Given the description of an element on the screen output the (x, y) to click on. 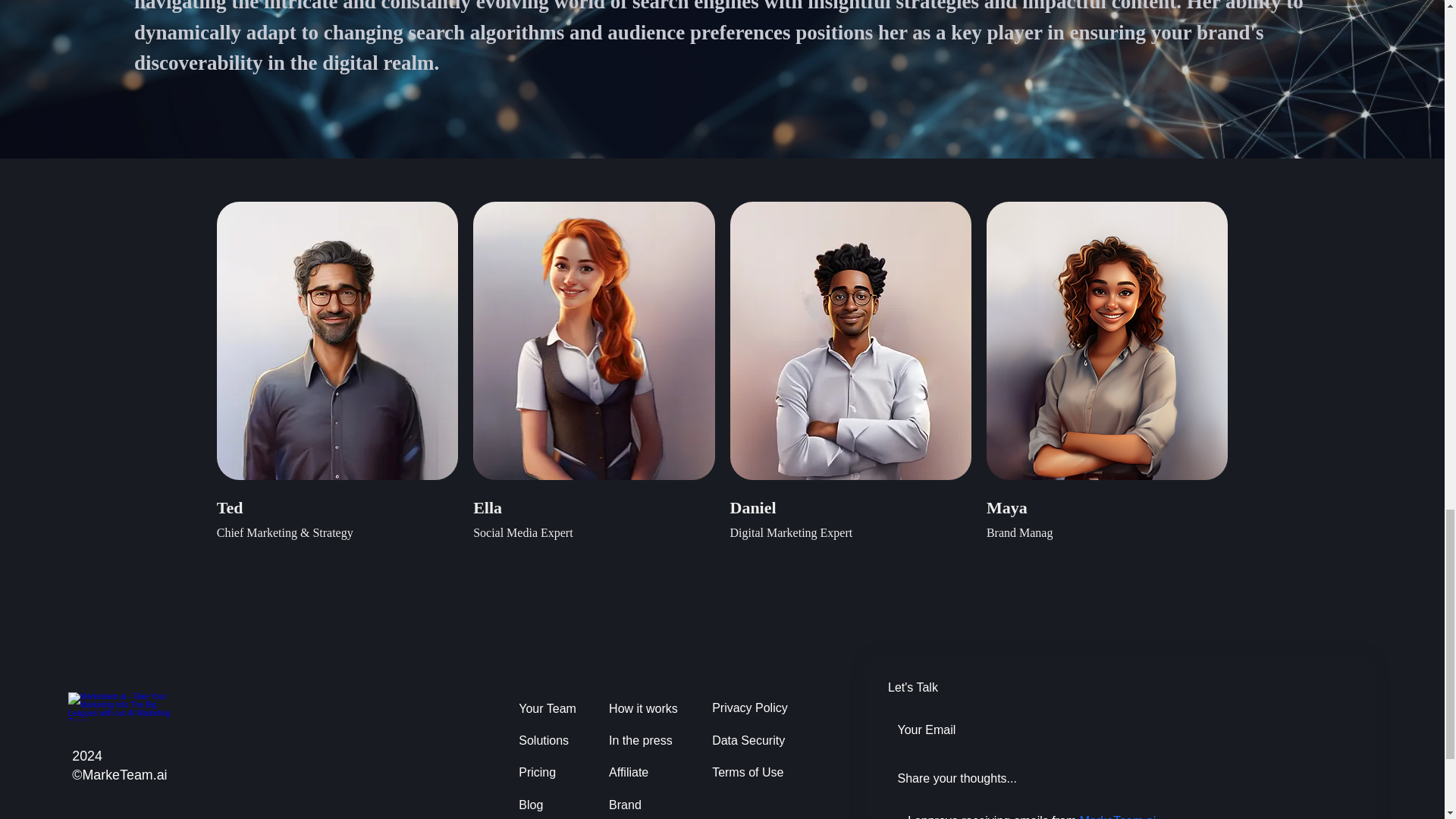
Solutions (548, 740)
How it works (644, 708)
Your Team (548, 708)
Terms of Use (753, 772)
MarkeTeam.ai (1118, 816)
Data Security (753, 740)
Brand (644, 804)
In the press (644, 740)
Privacy Policy (753, 707)
Blog (548, 804)
Affiliate (644, 772)
Pricing (548, 772)
